Given the description of an element on the screen output the (x, y) to click on. 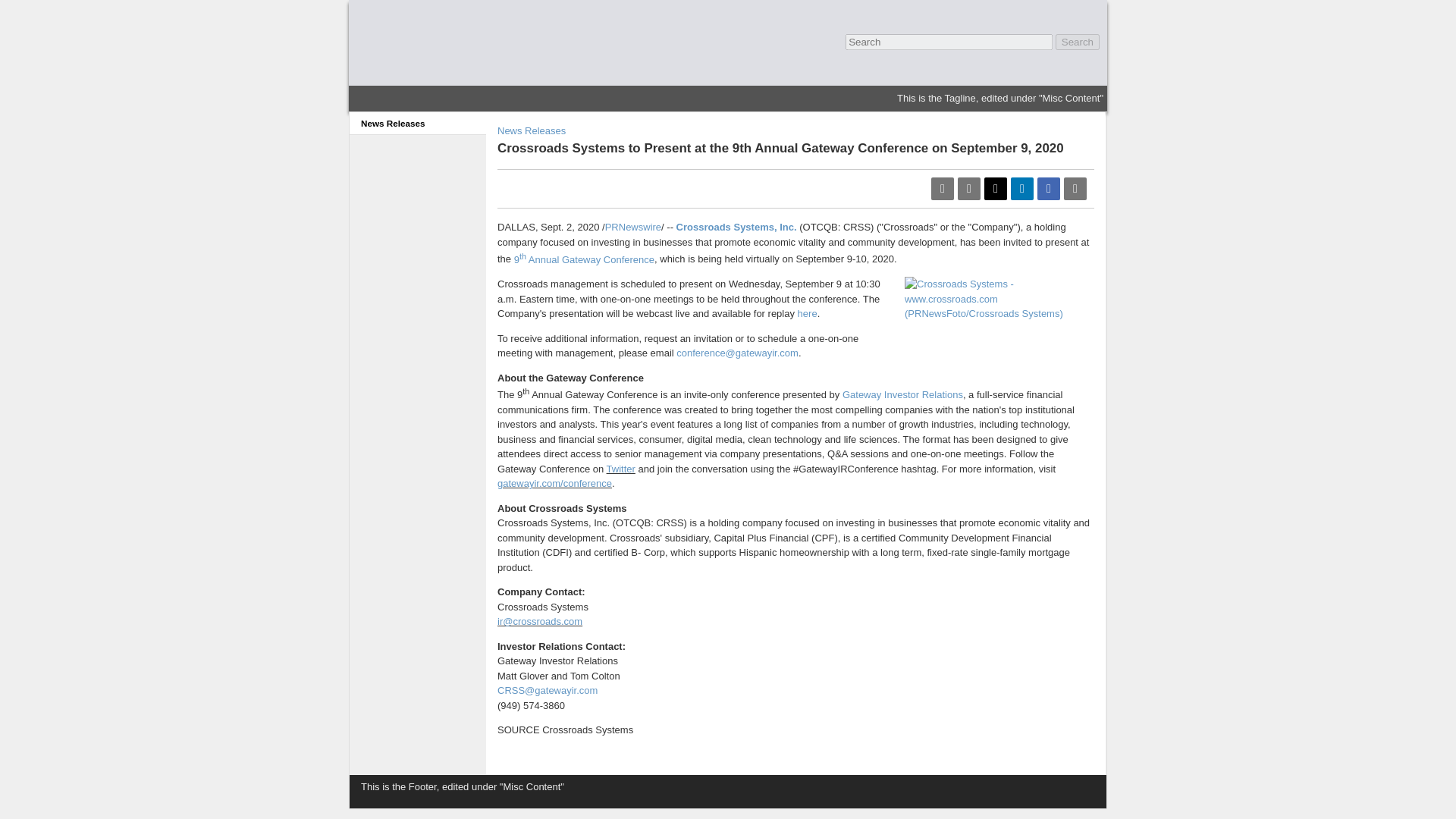
News Releases (531, 130)
Twitter (620, 469)
News Releases (417, 123)
9th Annual Gateway Conference (583, 259)
PRNewswire (633, 226)
